Given the description of an element on the screen output the (x, y) to click on. 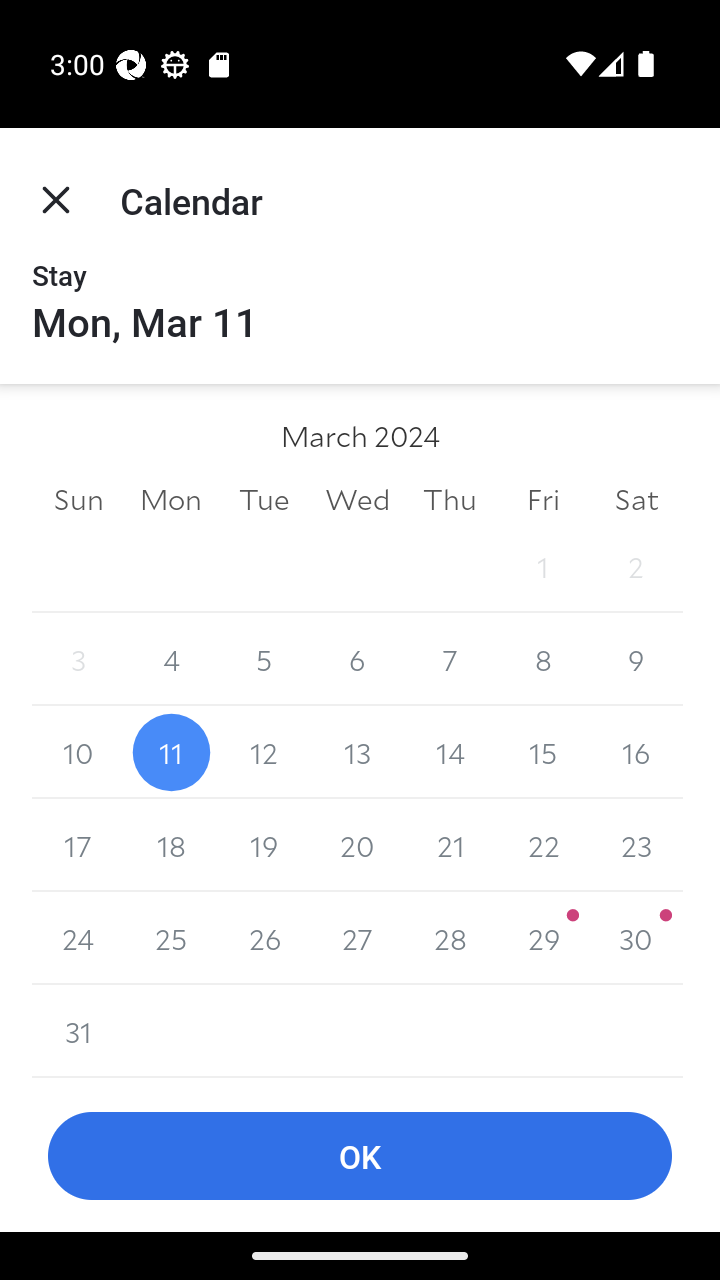
Sun (78, 498)
Mon (171, 498)
Tue (264, 498)
Wed (357, 498)
Thu (449, 498)
Fri (542, 498)
Sat (636, 498)
1 1 March 2024 (542, 566)
2 2 March 2024 (636, 566)
3 3 March 2024 (78, 659)
4 4 March 2024 (171, 659)
5 5 March 2024 (264, 659)
6 6 March 2024 (357, 659)
7 7 March 2024 (449, 659)
8 8 March 2024 (542, 659)
9 9 March 2024 (636, 659)
10 10 March 2024 (78, 752)
11 11 March 2024 (171, 752)
12 12 March 2024 (264, 752)
13 13 March 2024 (357, 752)
14 14 March 2024 (449, 752)
15 15 March 2024 (542, 752)
16 16 March 2024 (636, 752)
17 17 March 2024 (78, 845)
18 18 March 2024 (171, 845)
19 19 March 2024 (264, 845)
20 20 March 2024 (357, 845)
21 21 March 2024 (449, 845)
22 22 March 2024 (542, 845)
23 23 March 2024 (636, 845)
24 24 March 2024 (78, 938)
25 25 March 2024 (171, 938)
26 26 March 2024 (264, 938)
27 27 March 2024 (357, 938)
28 28 March 2024 (449, 938)
29 29 March 2024 (542, 938)
30 30 March 2024 (636, 938)
31 31 March 2024 (78, 1031)
OK (359, 1156)
